Given the description of an element on the screen output the (x, y) to click on. 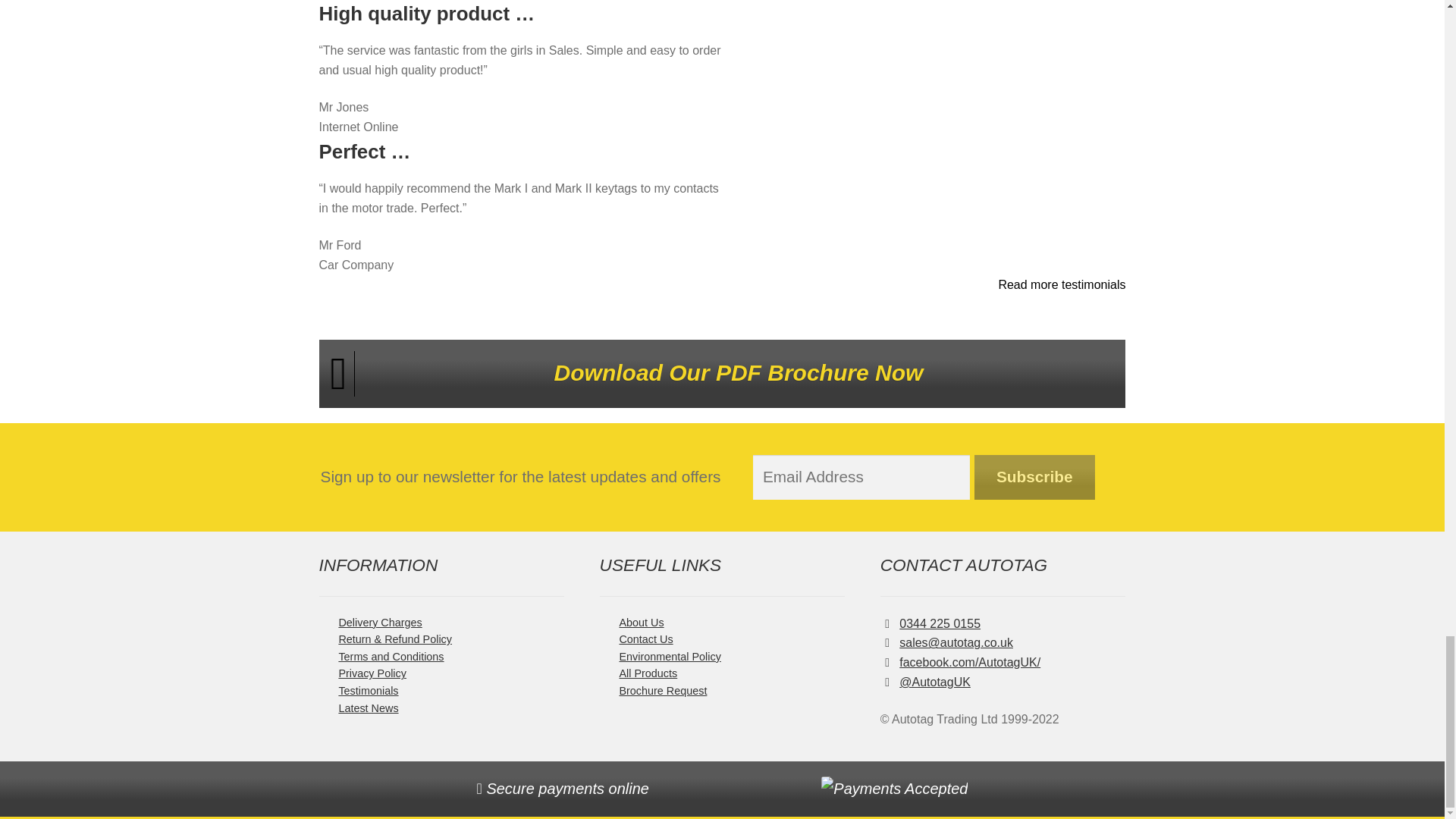
Subscribe (1034, 477)
